Given the description of an element on the screen output the (x, y) to click on. 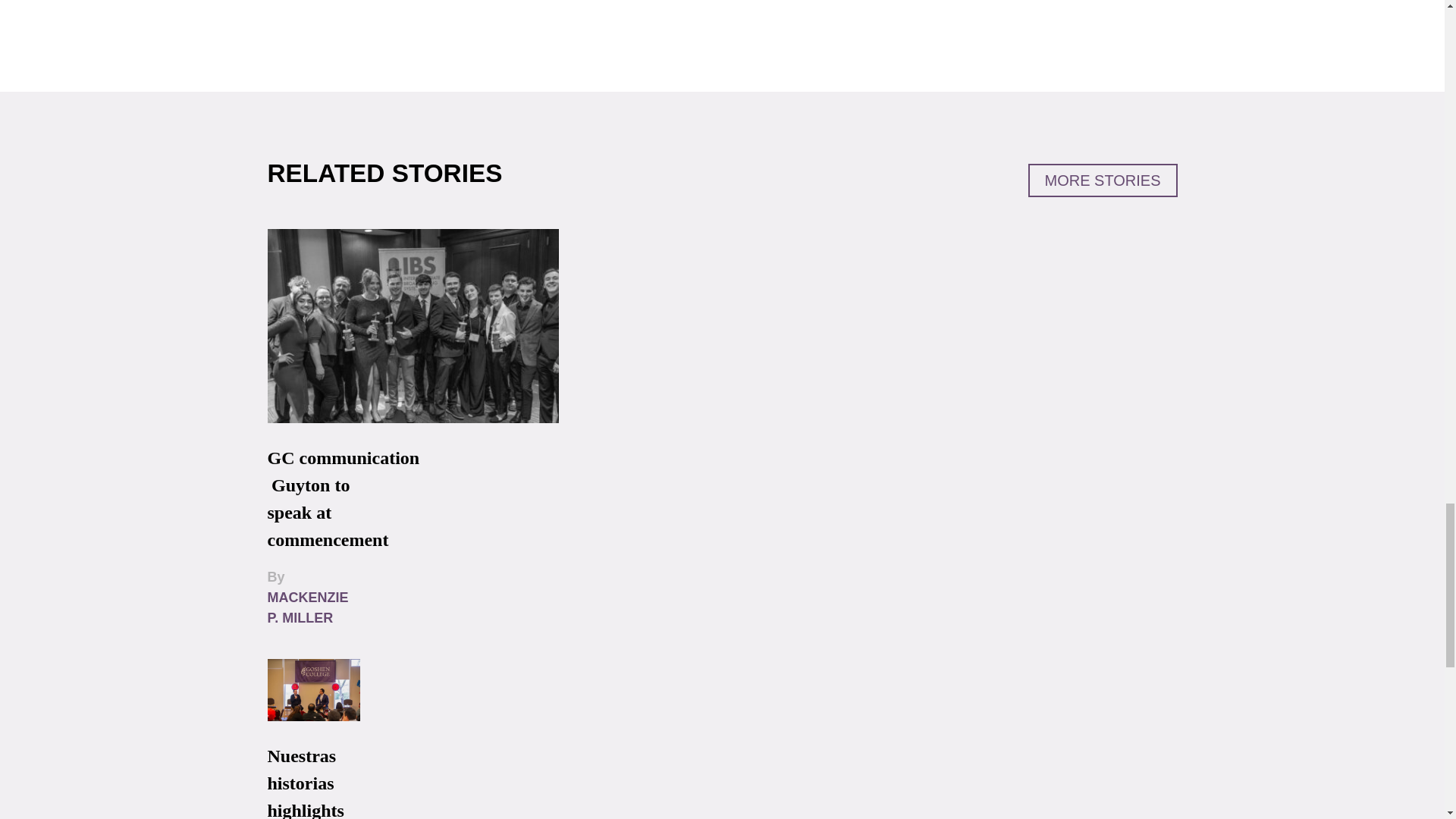
MACKENZIE P. MILLER (306, 607)
GC communication (342, 457)
Guyton to speak at commencement (327, 512)
Nuestras historias highlights Latino journey (304, 782)
MORE STORIES (1102, 180)
